Given the description of an element on the screen output the (x, y) to click on. 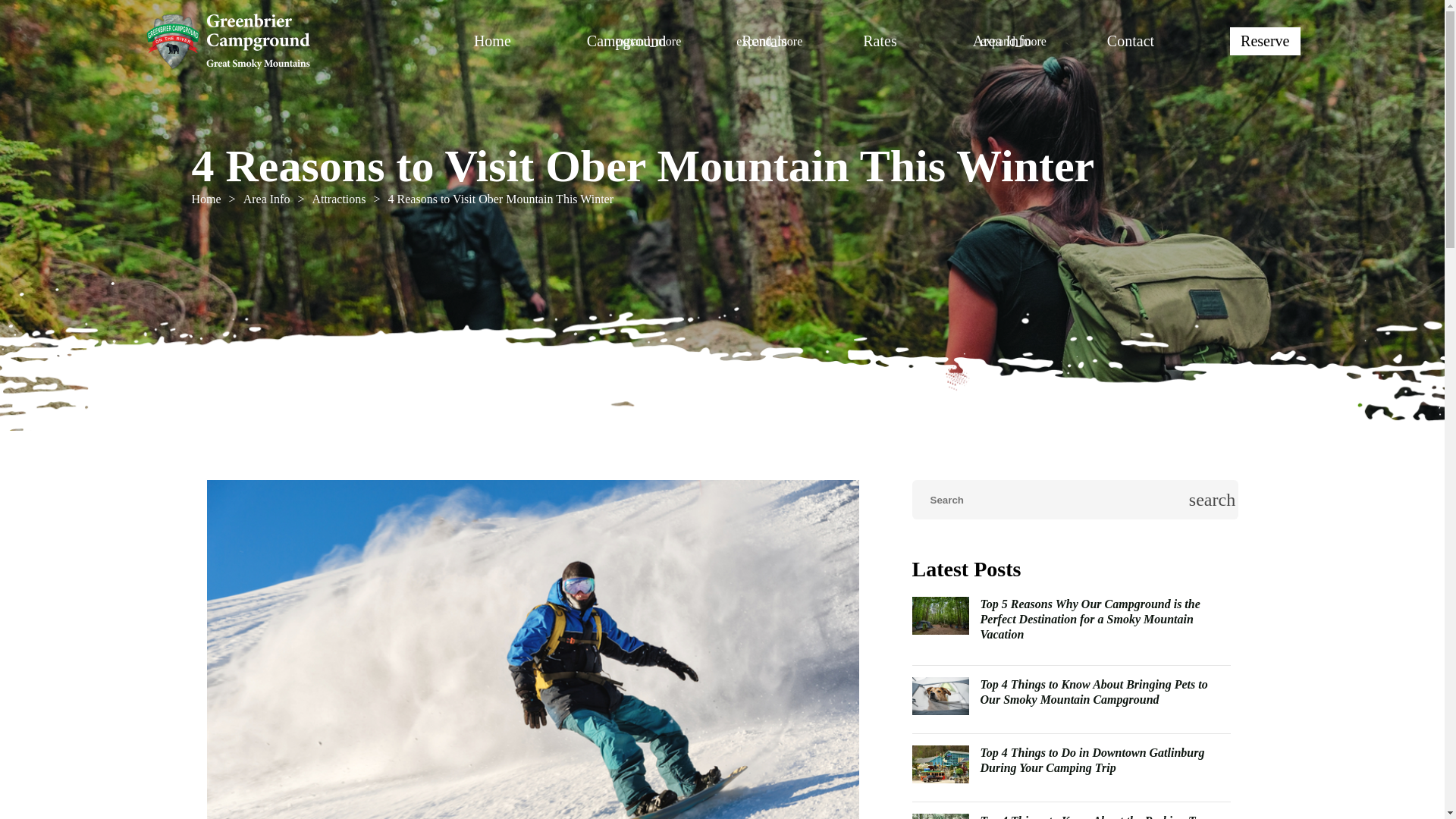
Rentals (764, 41)
Contact (1130, 41)
Rates (879, 41)
Home (205, 198)
Home (492, 41)
Campground (625, 41)
Reserve (1264, 40)
Area Info (1001, 41)
Attractions (338, 198)
Area Info (266, 198)
